Given the description of an element on the screen output the (x, y) to click on. 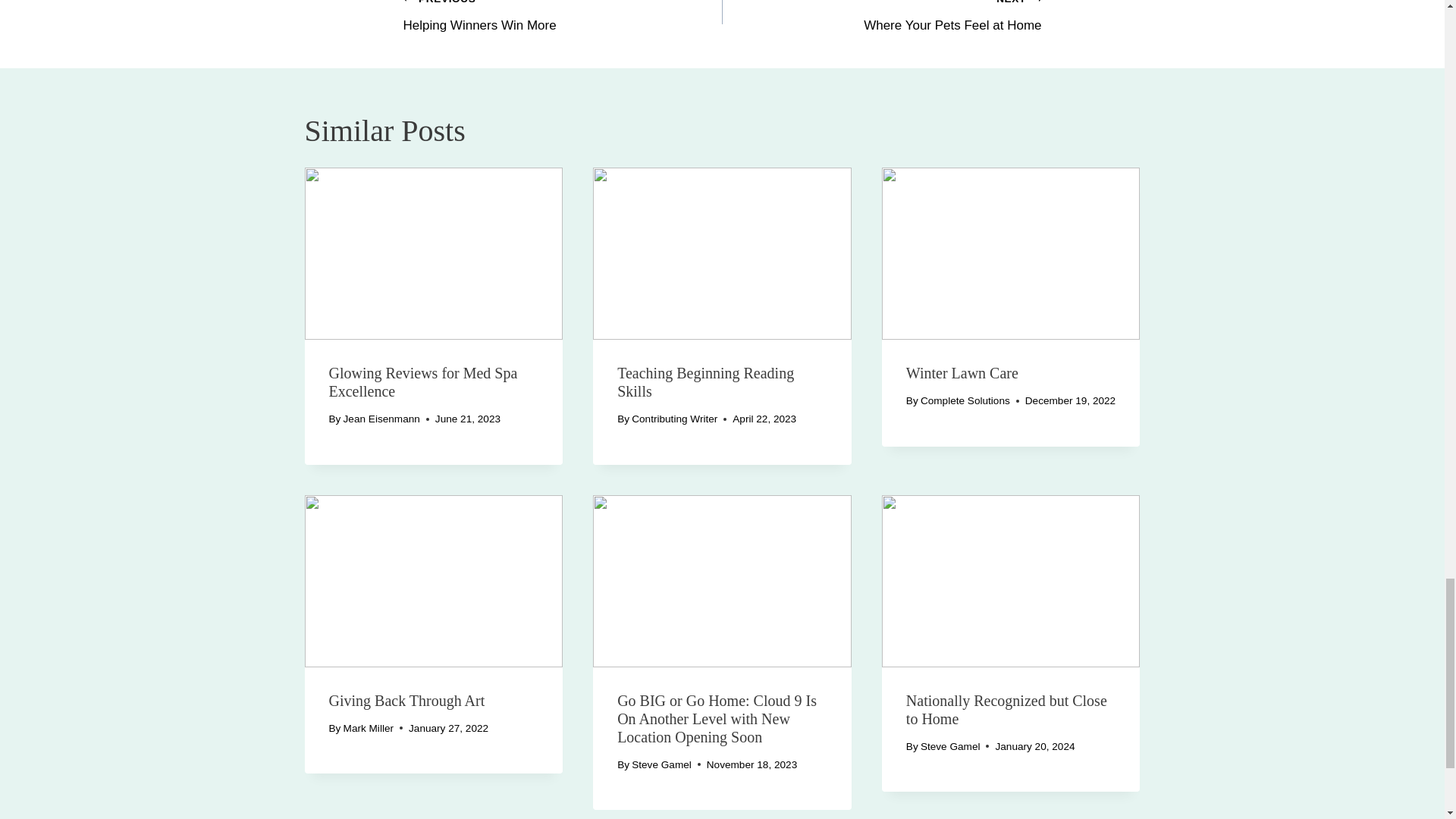
Ty Dawson Image 3-rgb - Live Local Magazines (433, 581)
Jean Eisenmann (381, 419)
YCM-4524 - Live Local Magazines (881, 18)
Glowing Reviews for Med Spa Excellence (433, 253)
